Given the description of an element on the screen output the (x, y) to click on. 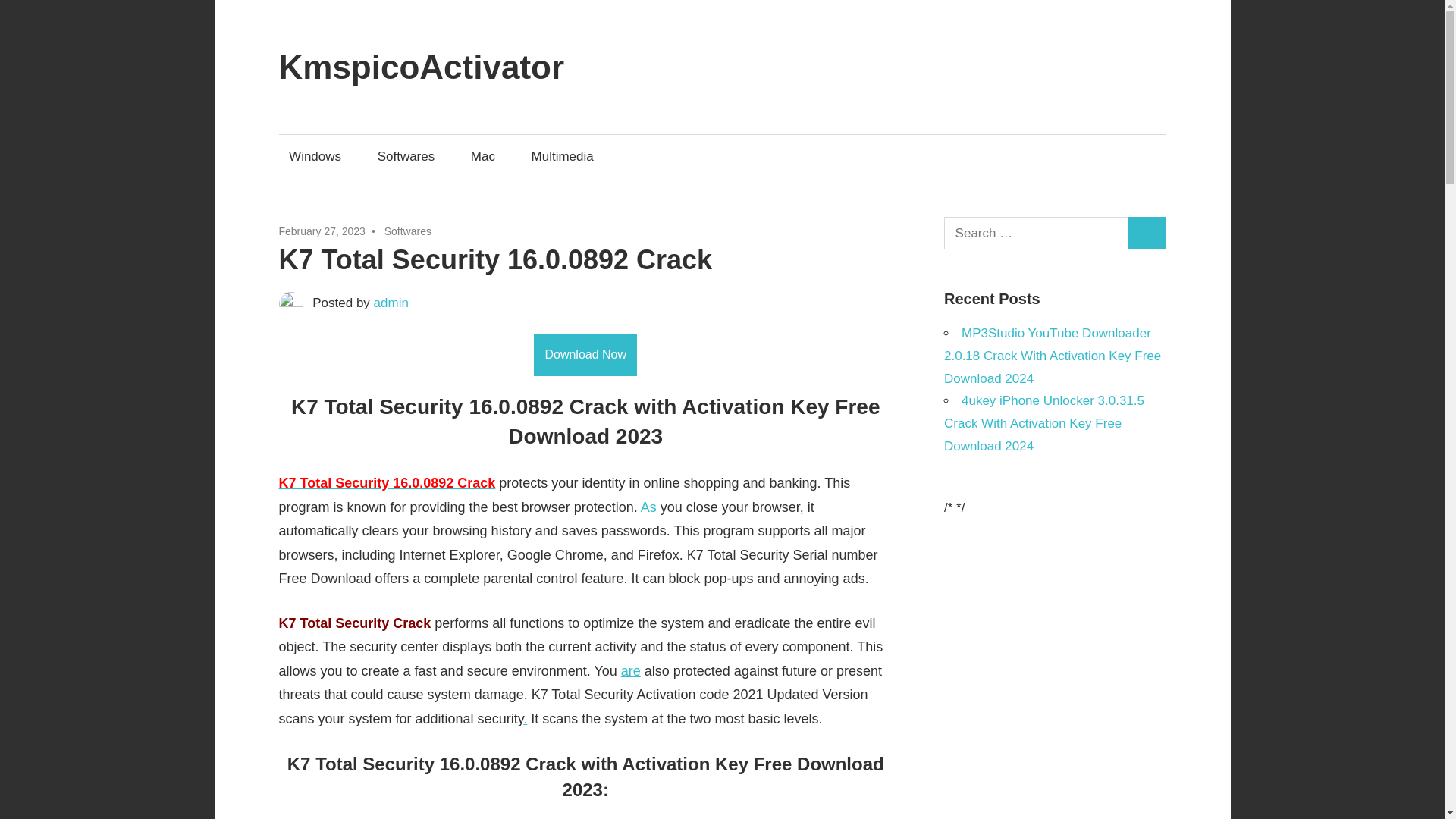
Mac (482, 156)
Multimedia (562, 156)
are (630, 670)
Softwares (405, 156)
Windows (315, 156)
February 27, 2023 (322, 231)
1:11 am (322, 231)
Search for: (1035, 233)
K7 Total Security 16.0.0892 Crack (387, 482)
As (648, 507)
